Given the description of an element on the screen output the (x, y) to click on. 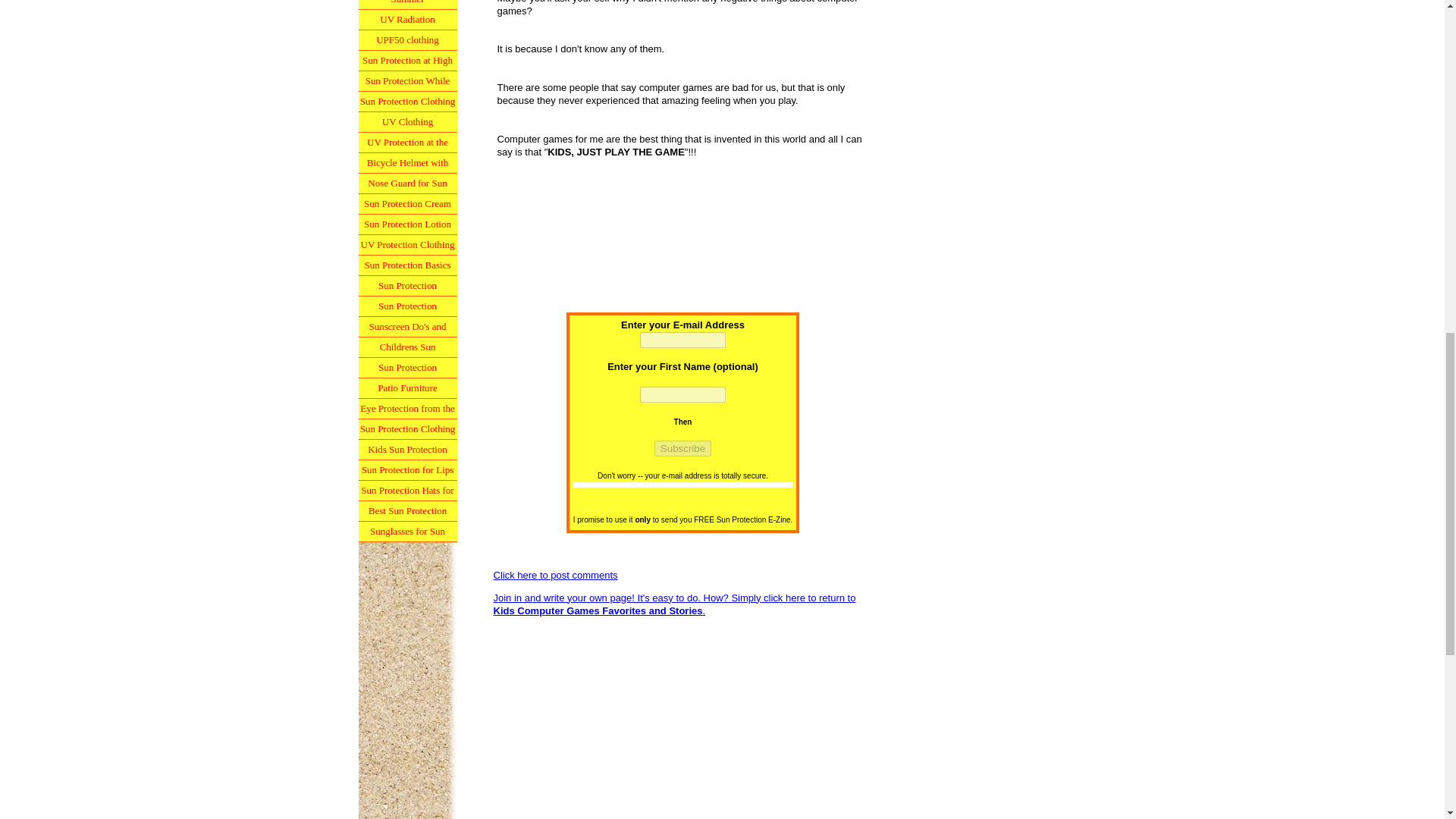
Advertisement (681, 723)
Subscribe (682, 448)
Click here to post comments (555, 574)
